Given the description of an element on the screen output the (x, y) to click on. 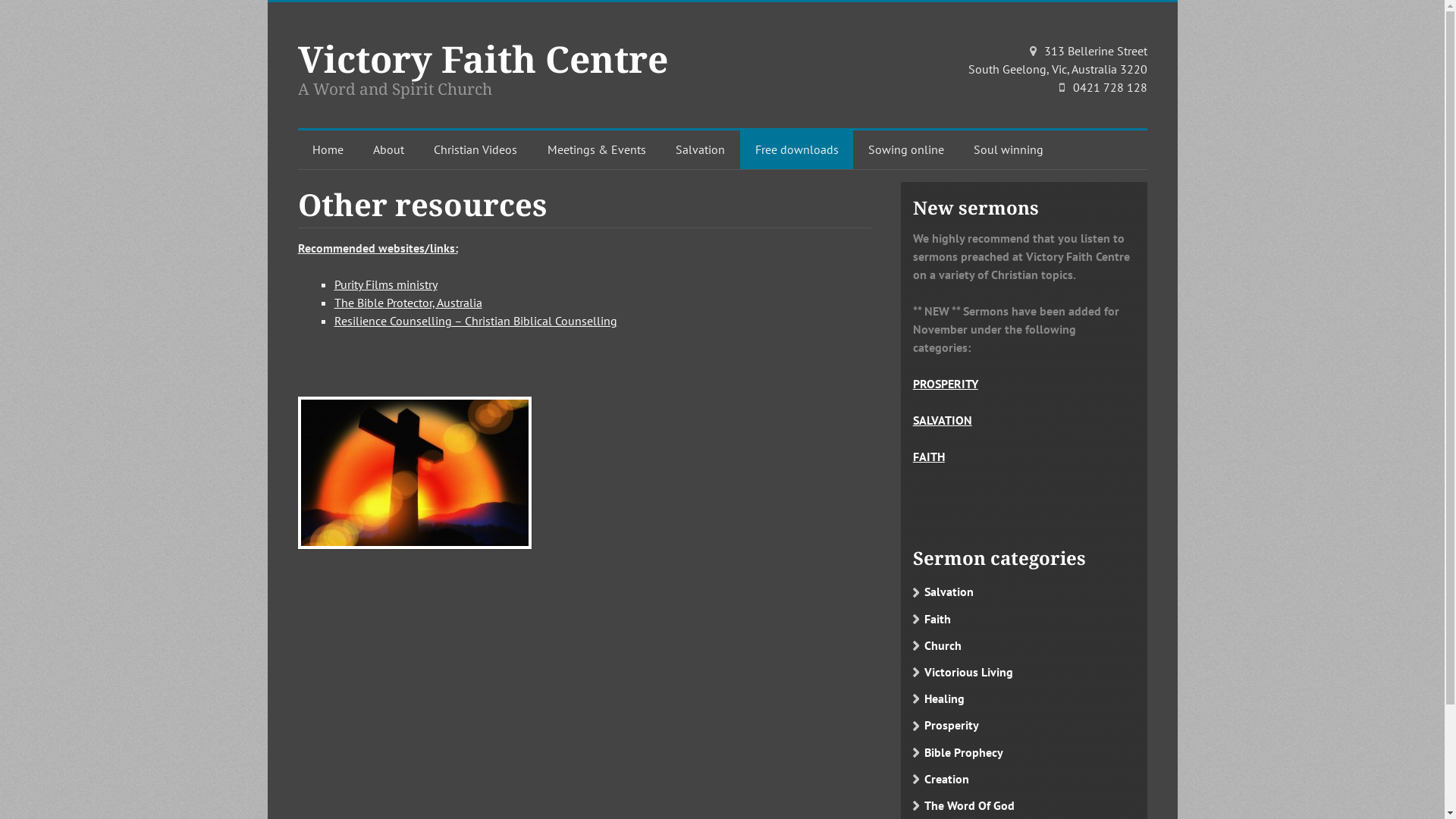
Christian Videos Element type: text (475, 149)
The Bible Protector, Australia Element type: text (407, 302)
Prosperity Element type: text (1024, 725)
Victorious Living Element type: text (1024, 671)
About Element type: text (388, 149)
Faith Element type: text (1024, 618)
0421 728 128 Element type: text (1109, 86)
Home Element type: text (327, 149)
Salvation Element type: text (700, 149)
Bible Prophecy Element type: text (1024, 752)
Creation Element type: text (1024, 778)
Salvation Element type: text (1024, 591)
Church Element type: text (1024, 645)
Meetings & Events Element type: text (596, 149)
Sowing online Element type: text (905, 149)
313 Bellerine Street
South Geelong, Vic, Australia 3220 Element type: text (1053, 60)
Victory Faith Centre Element type: text (482, 58)
Soul winning Element type: text (1008, 149)
SALVATION Element type: text (942, 419)
Skip to content Element type: text (350, 149)
Purity Films ministry Element type: text (384, 283)
FAITH Element type: text (928, 456)
PROSPERITY Element type: text (945, 383)
Free downloads Element type: text (796, 149)
Healing Element type: text (1024, 698)
